Given the description of an element on the screen output the (x, y) to click on. 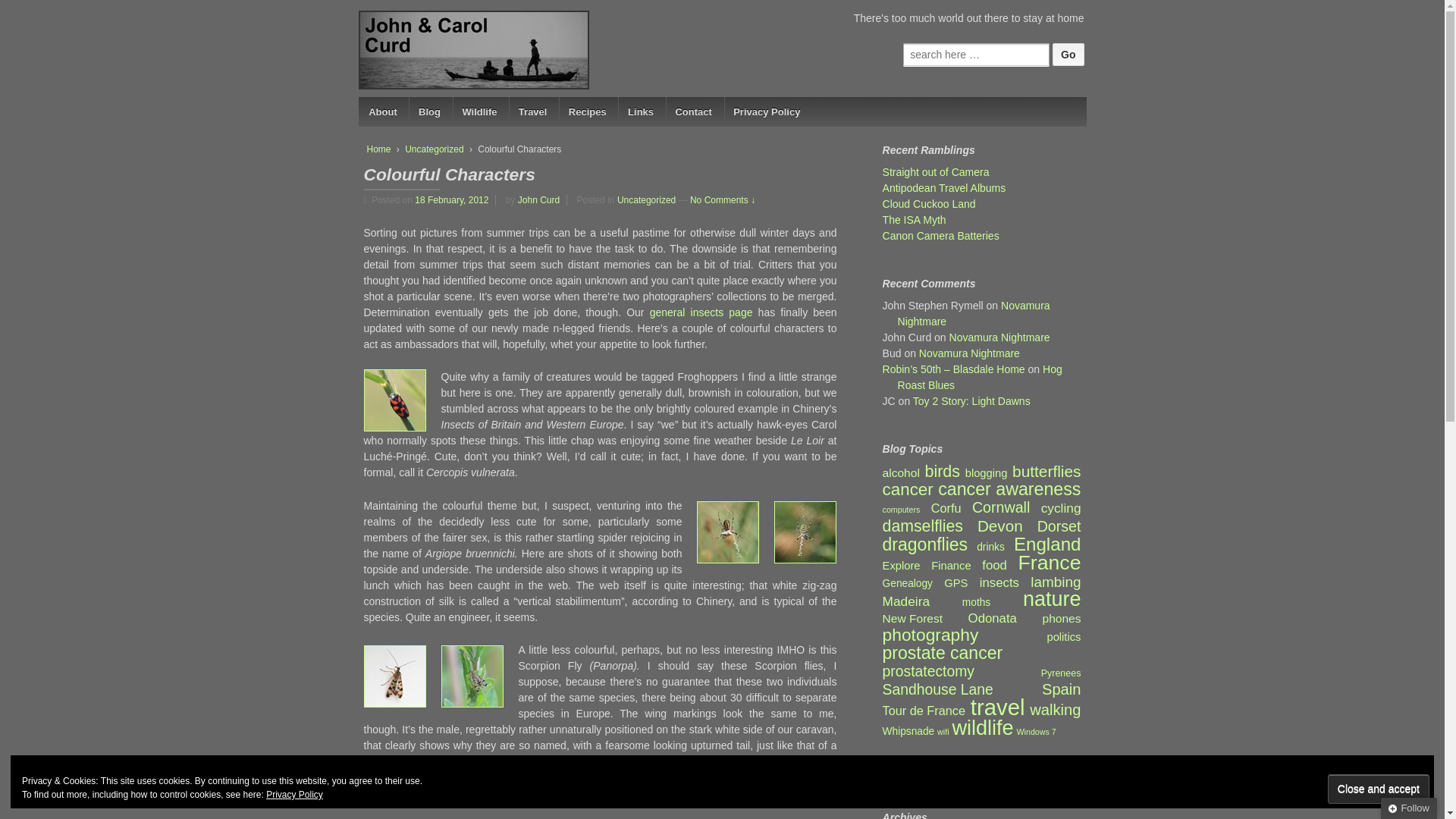
Colourful Characters (455, 199)
Wildlife (478, 111)
Links (639, 111)
Nature Albums (478, 111)
Recipes (586, 111)
About (382, 111)
View all posts by John Curd (538, 199)
Travel (532, 111)
Gastroblog recipes (586, 111)
Travel Albums (532, 111)
Close and accept (1378, 788)
Go (1067, 54)
Blog (428, 111)
Go (1067, 54)
